Given the description of an element on the screen output the (x, y) to click on. 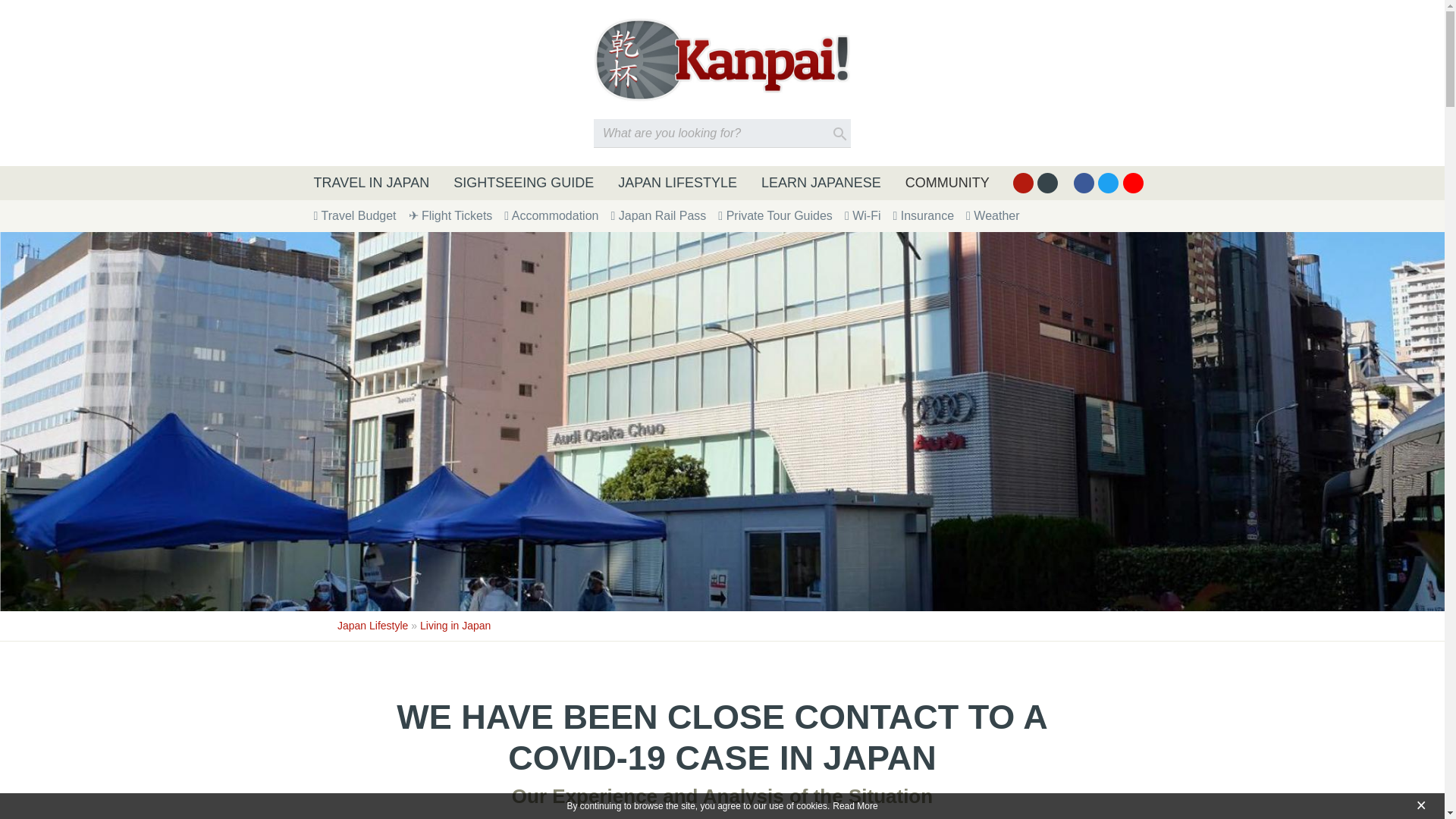
Kanpai on Facebook (1084, 182)
Calculate your Japan travel budget (355, 215)
Kanpai on YouTube (1132, 182)
Kanpai-japan.com logo (722, 59)
Enter the terms you wish to search for. (722, 133)
Accommodation in Japan: A Comprehensive Guide (550, 215)
Kanpai Newsletter (1047, 182)
SIGHTSEEING GUIDE (523, 182)
Kanpai on Twitter (1107, 182)
Japan Rail Pass: where to buy for cheap? (658, 215)
